Given the description of an element on the screen output the (x, y) to click on. 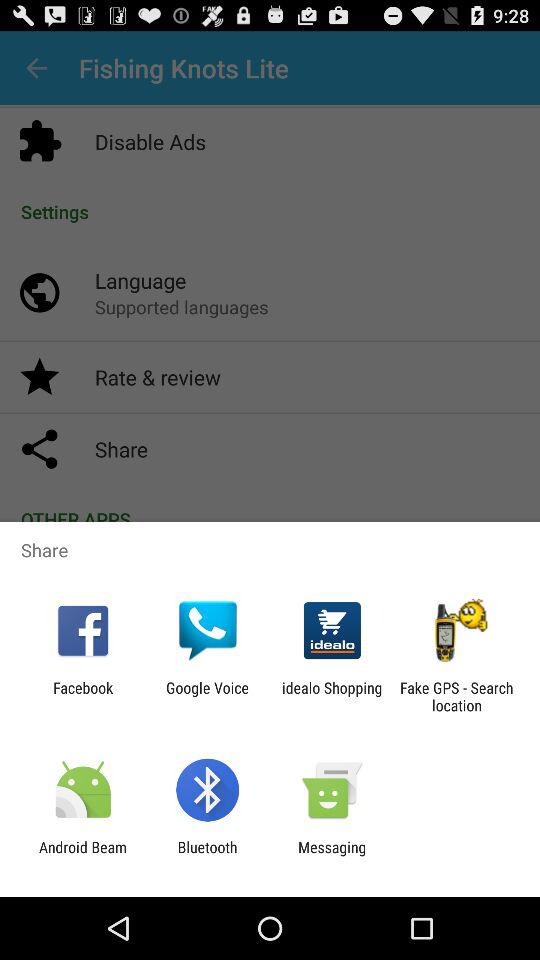
choose the icon to the left of bluetooth app (83, 856)
